Given the description of an element on the screen output the (x, y) to click on. 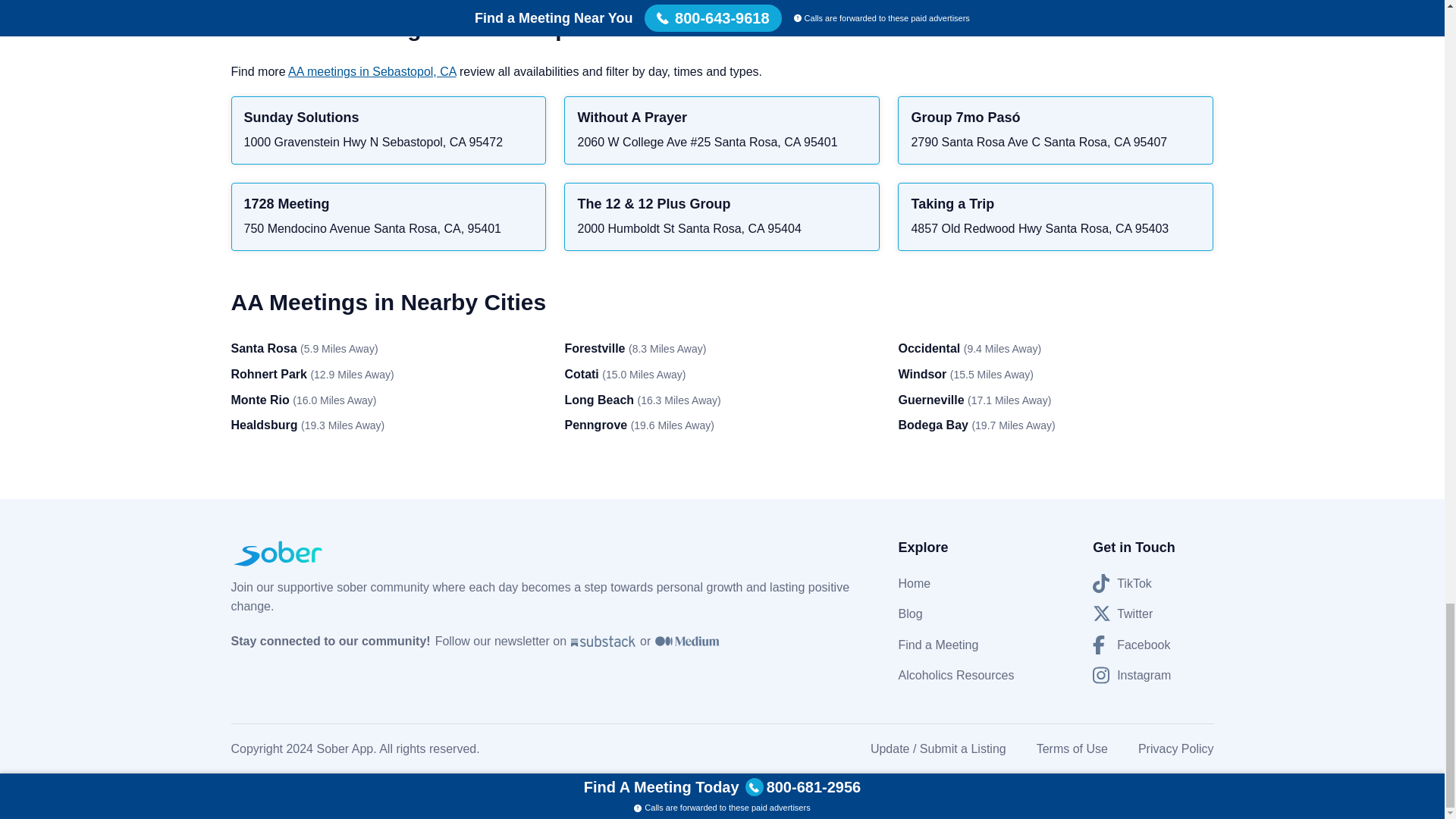
1728 Meeting (389, 203)
AA meetings in Sebastopol, CA (371, 71)
Sunday Solutions (389, 117)
Without A Prayer (721, 117)
AA meetings in Sebastopol, CA (371, 71)
